Given the description of an element on the screen output the (x, y) to click on. 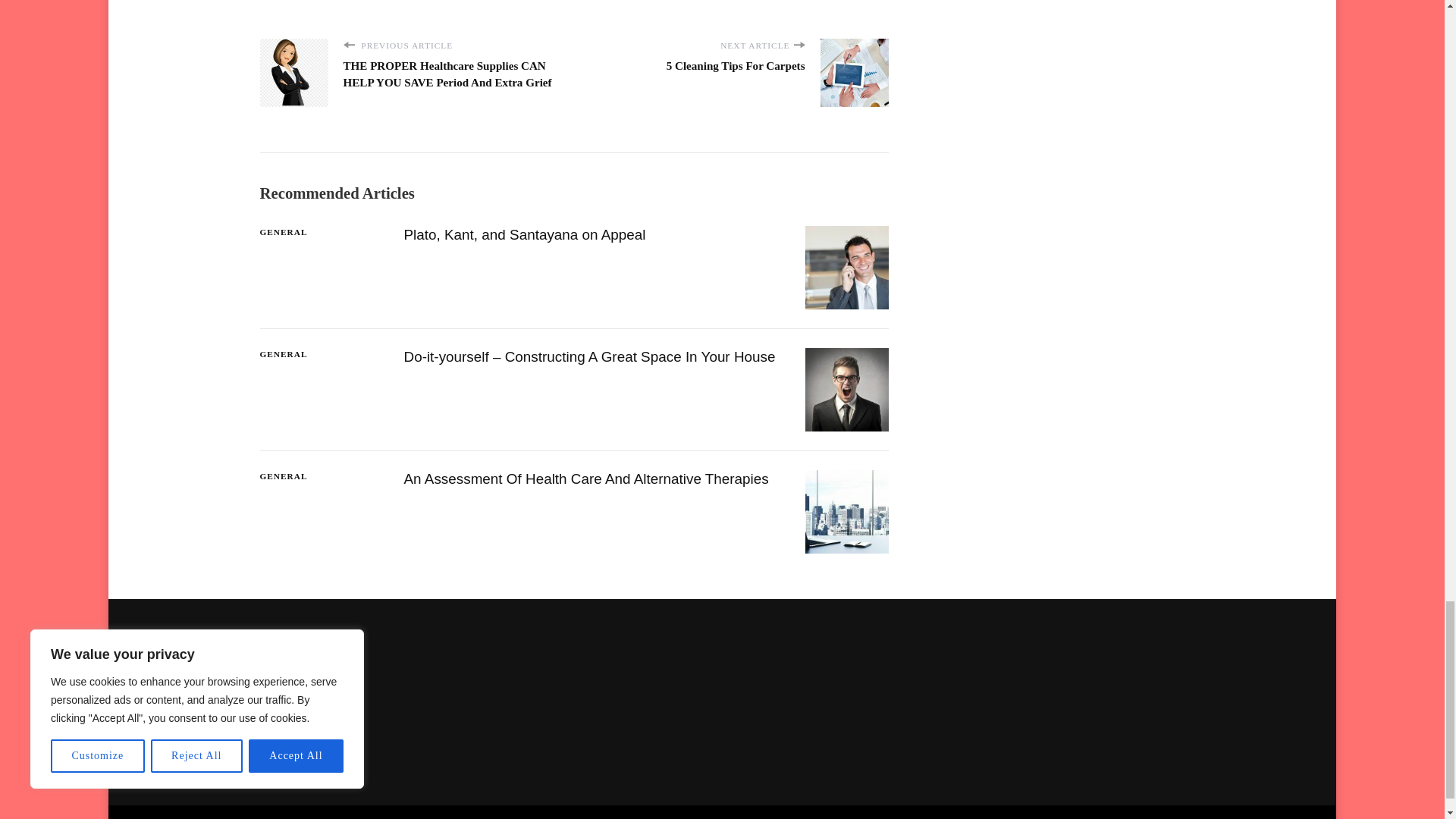
GENERAL (283, 232)
